Given the description of an element on the screen output the (x, y) to click on. 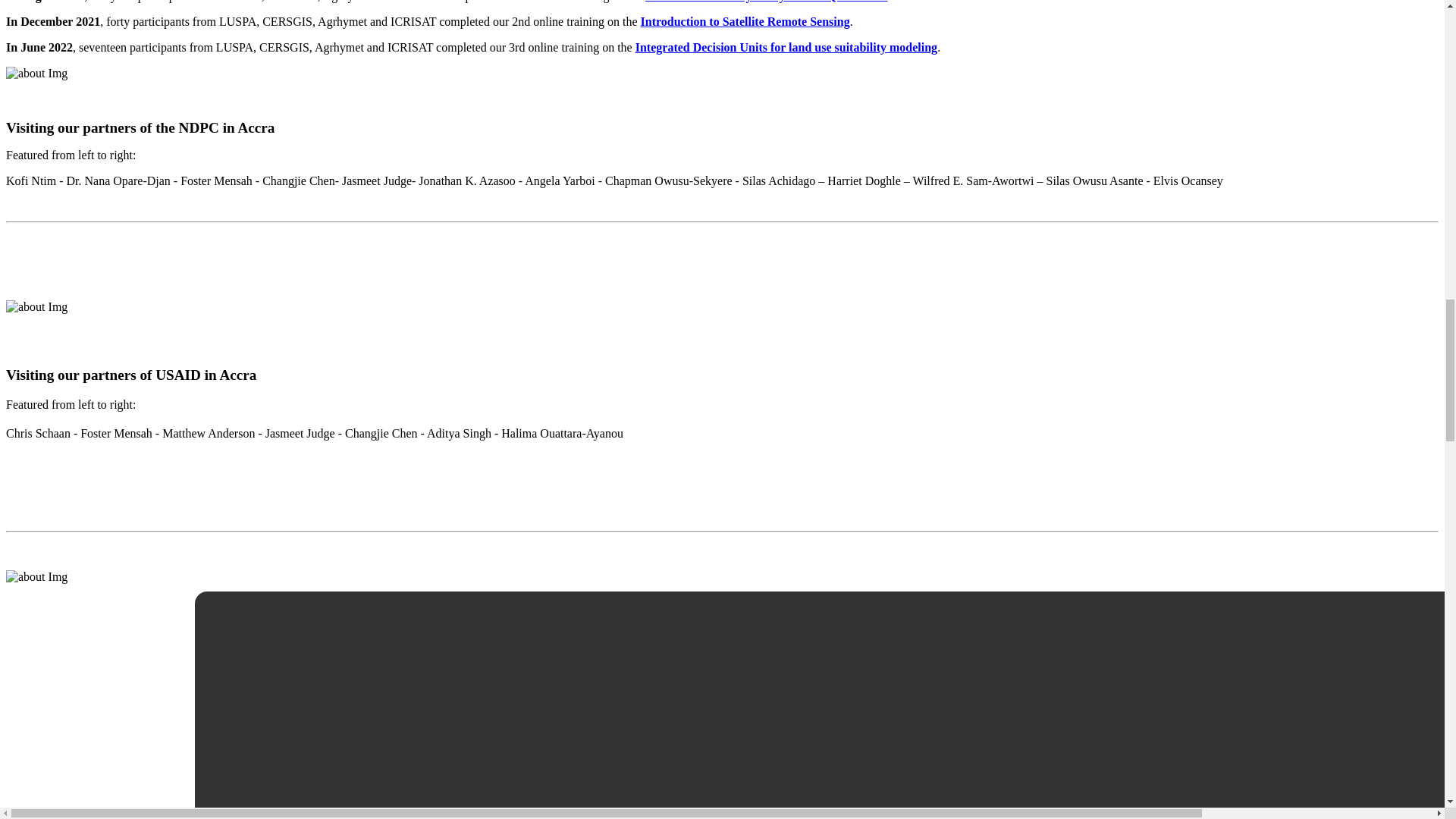
Introduction to Satellite Remote Sensing (745, 21)
Integrated Decision Units for land use suitability modeling (785, 47)
